Given the description of an element on the screen output the (x, y) to click on. 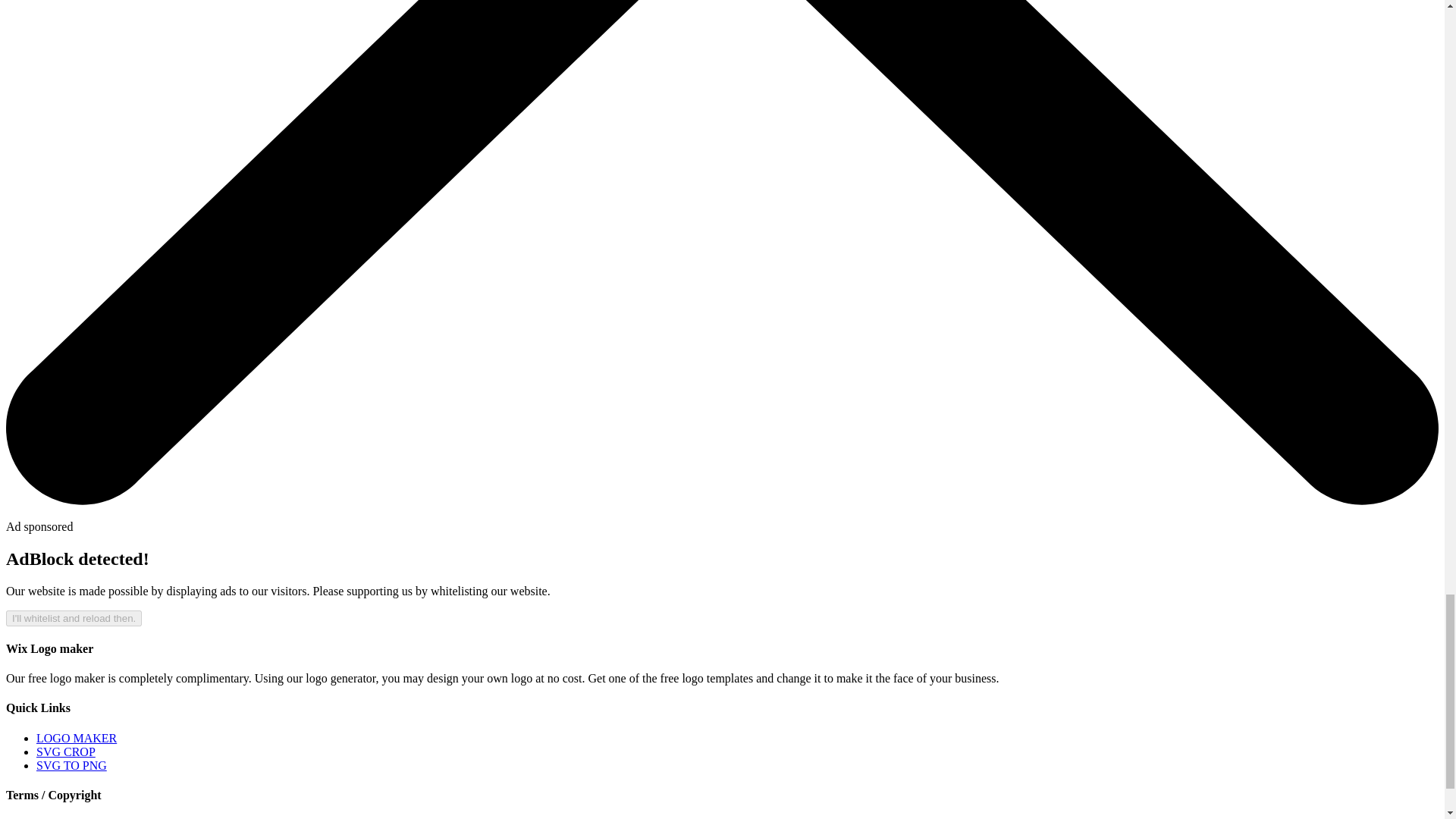
I'll whitelist and reload then. (73, 618)
SVG CROP (66, 751)
SVG TO PNG (71, 765)
LOGO MAKER (76, 738)
